Given the description of an element on the screen output the (x, y) to click on. 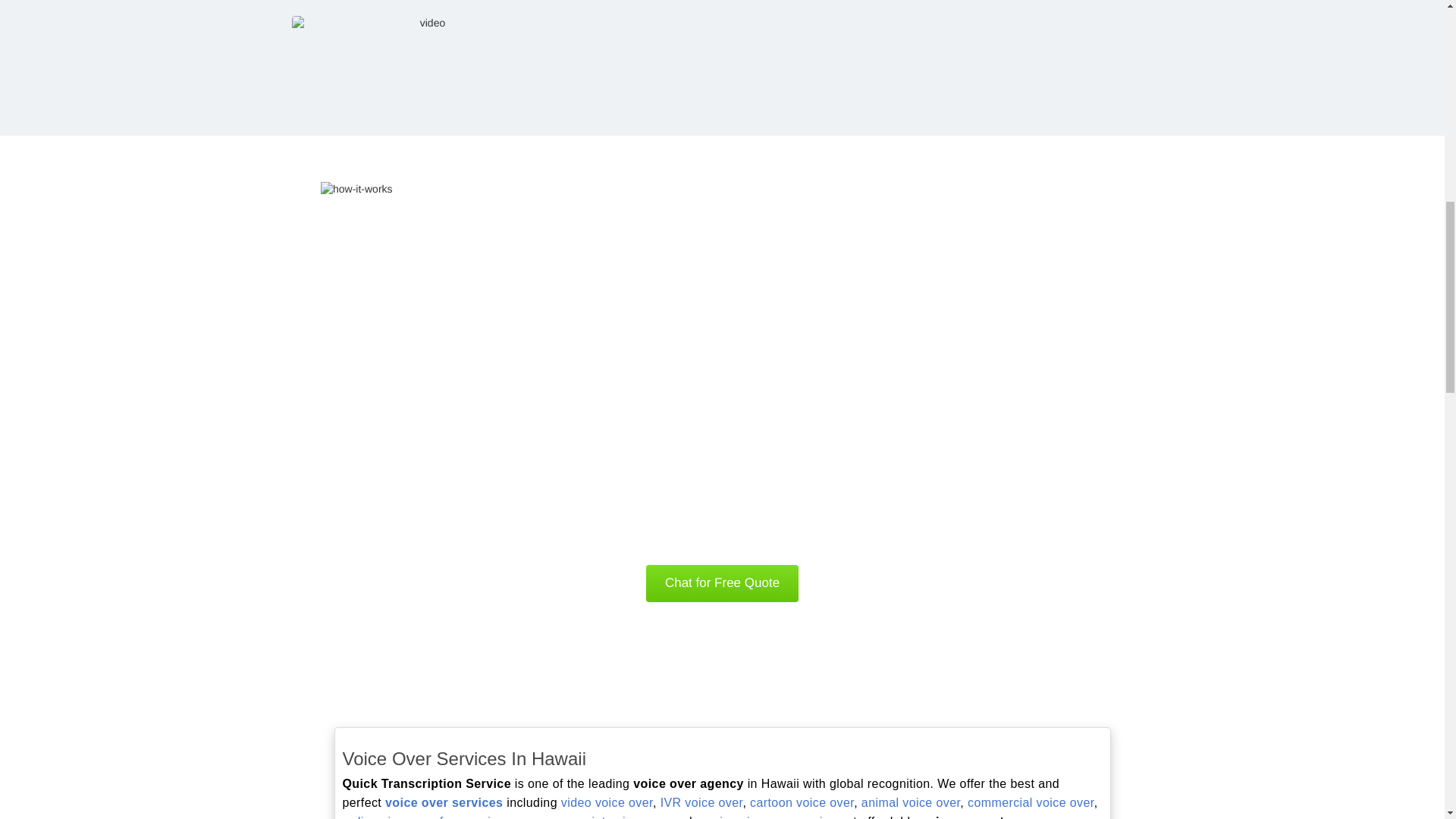
nasa (825, 20)
Social Security UAS (915, 20)
video (426, 32)
general electric (733, 20)
